Given the description of an element on the screen output the (x, y) to click on. 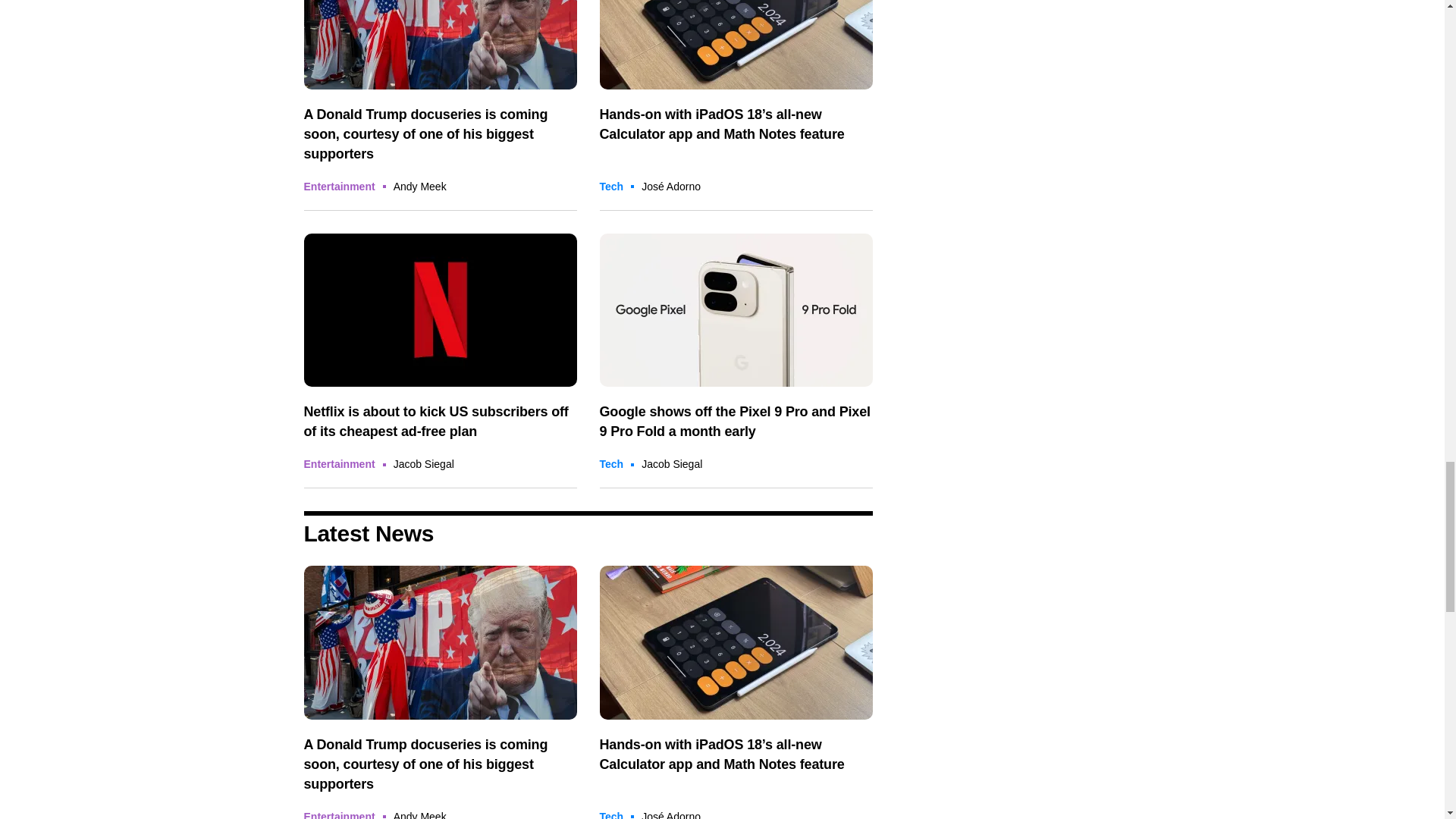
Pixel 9 Pro Fold (735, 310)
Netflix Basic (439, 310)
Posts by Andy Meek (419, 186)
Trump (439, 642)
Trump (439, 44)
Posts by Jacob Siegal (423, 463)
Posts by Jacob Siegal (671, 463)
Posts by Andy Meek (419, 814)
